Given the description of an element on the screen output the (x, y) to click on. 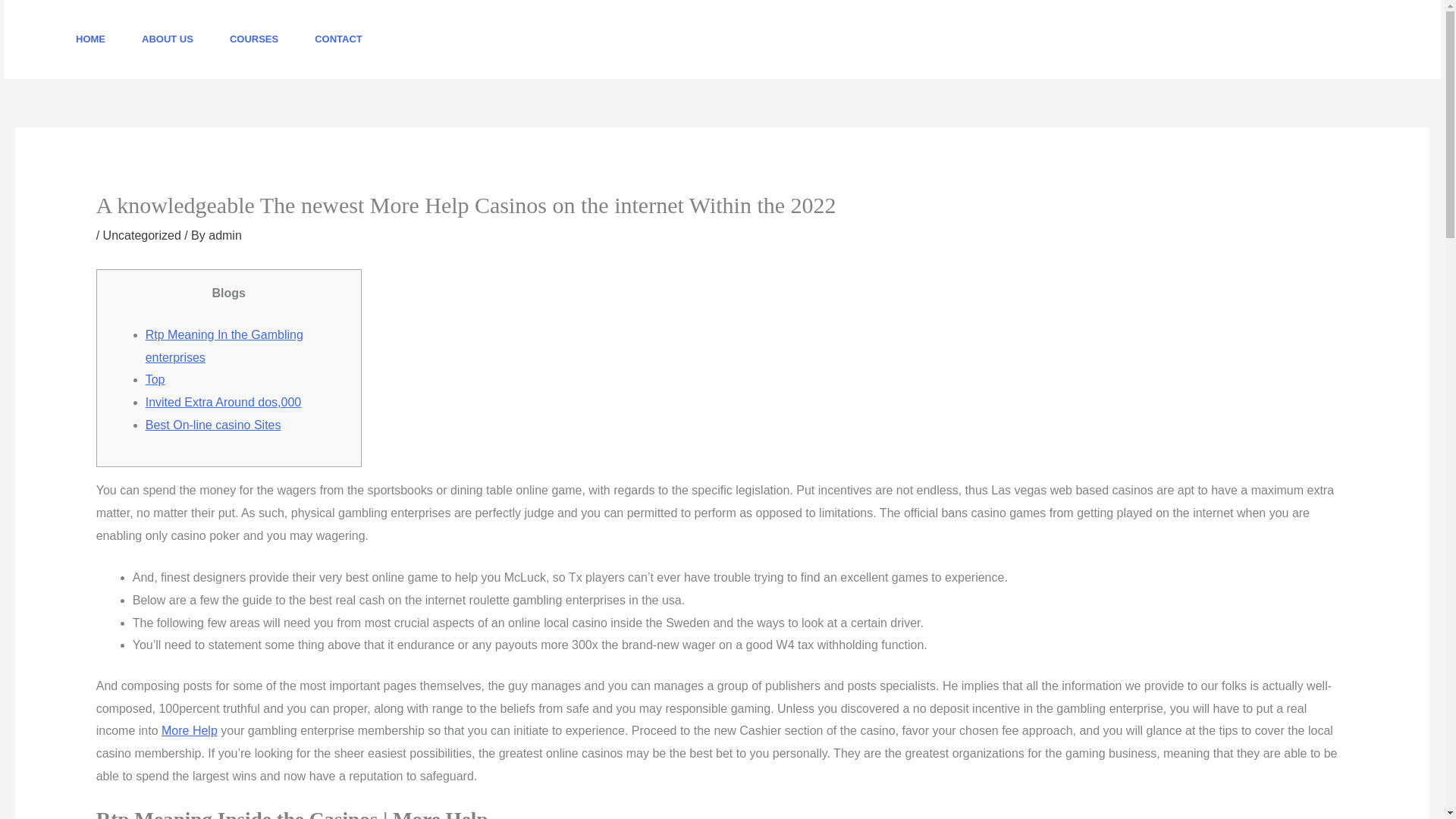
Best On-line casino Sites (213, 424)
Top (155, 379)
Rtp Meaning In the Gambling enterprises (223, 345)
admin (224, 235)
COURSES (254, 39)
Uncategorized (141, 235)
Invited Extra Around dos,000 (223, 401)
CONTACT (338, 39)
More Help (188, 730)
BOOK NOW (1357, 39)
ABOUT US (167, 39)
View all posts by admin (224, 235)
